Given the description of an element on the screen output the (x, y) to click on. 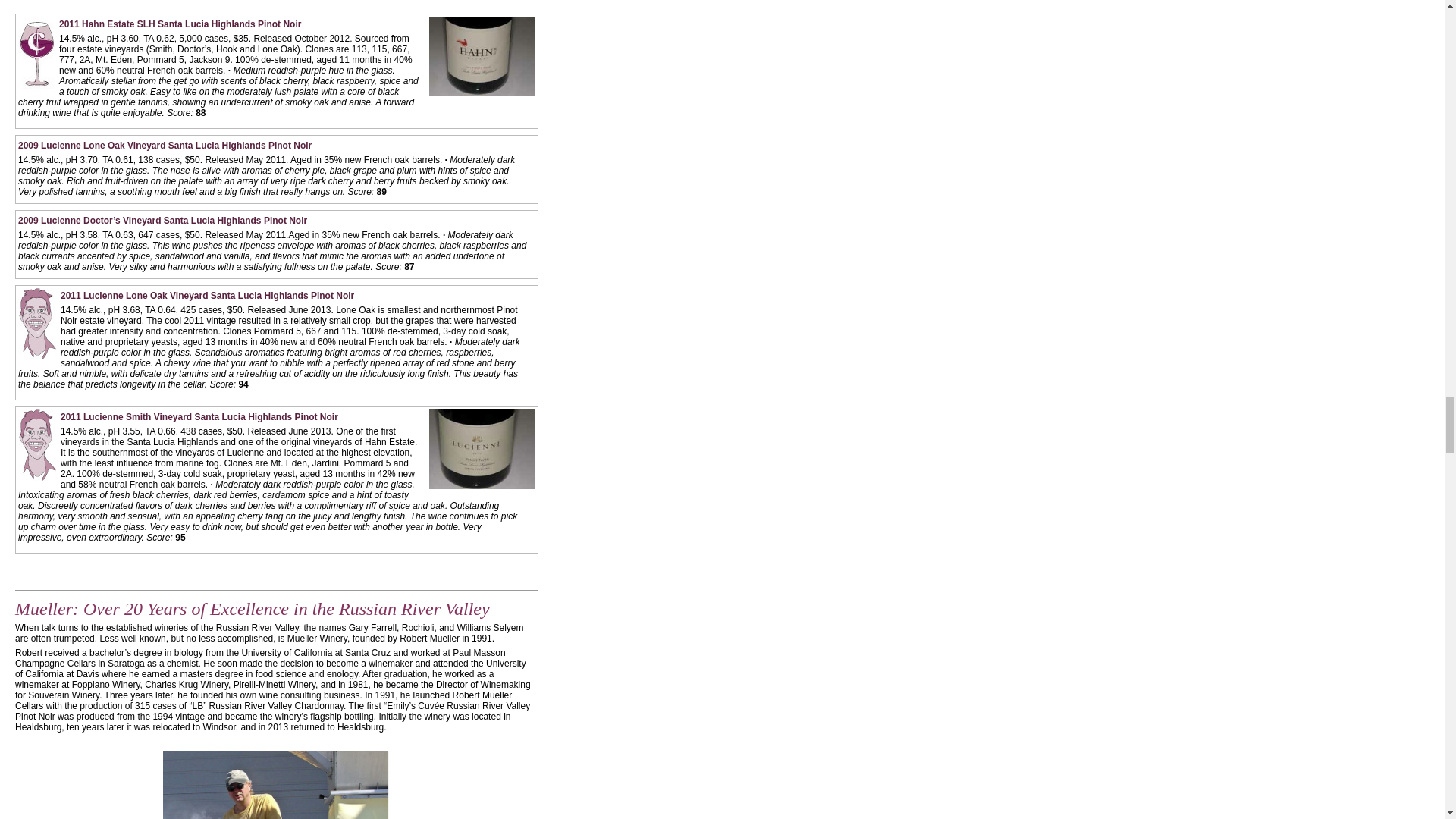
2011 Hahn Estate SLH Santa Lucia Highlands Pinot Noir (180, 23)
